Given the description of an element on the screen output the (x, y) to click on. 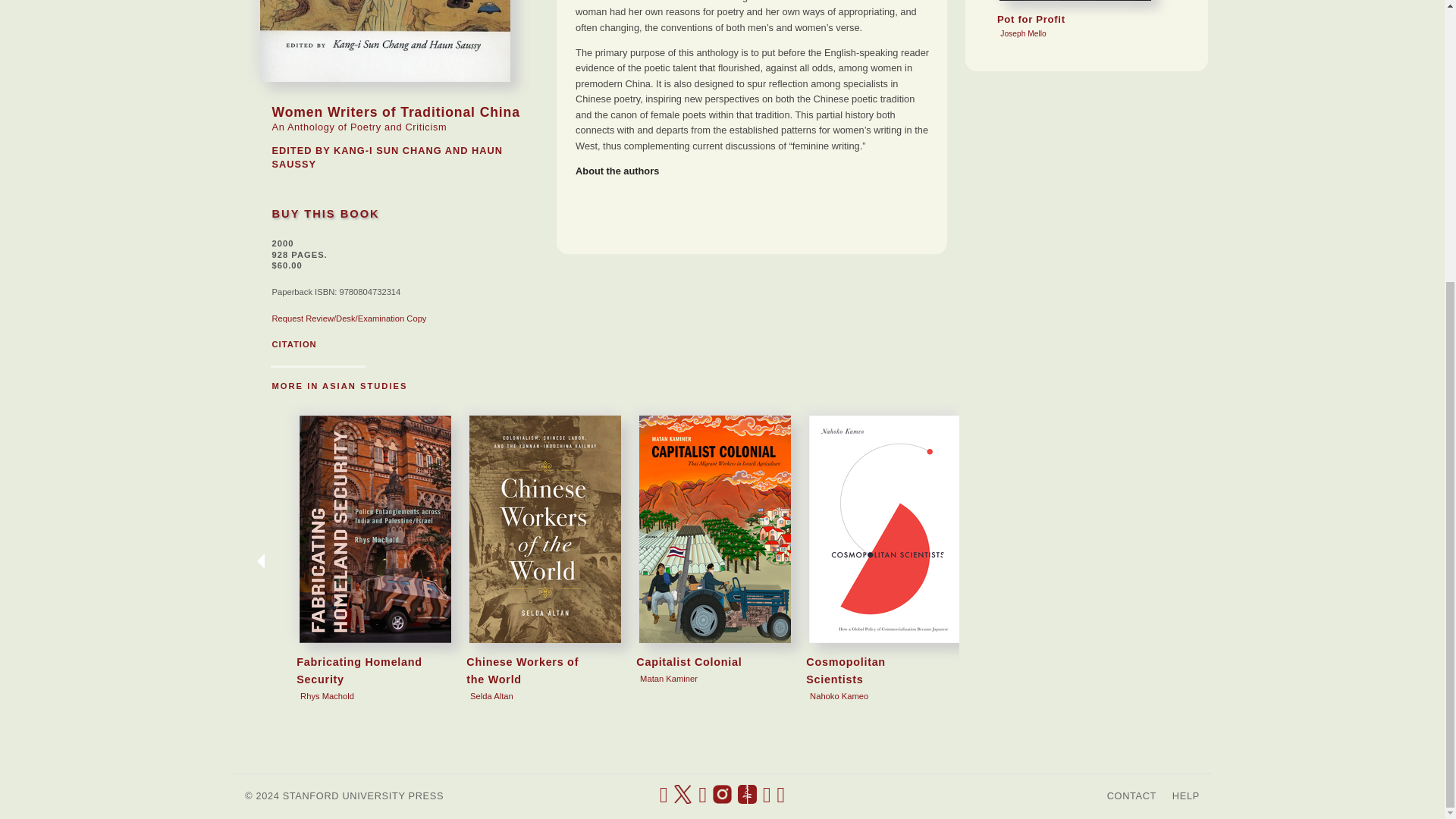
MORE IN ASIAN STUDIES (338, 385)
CITATION (292, 343)
BUY THIS BOOK (324, 214)
